Given the description of an element on the screen output the (x, y) to click on. 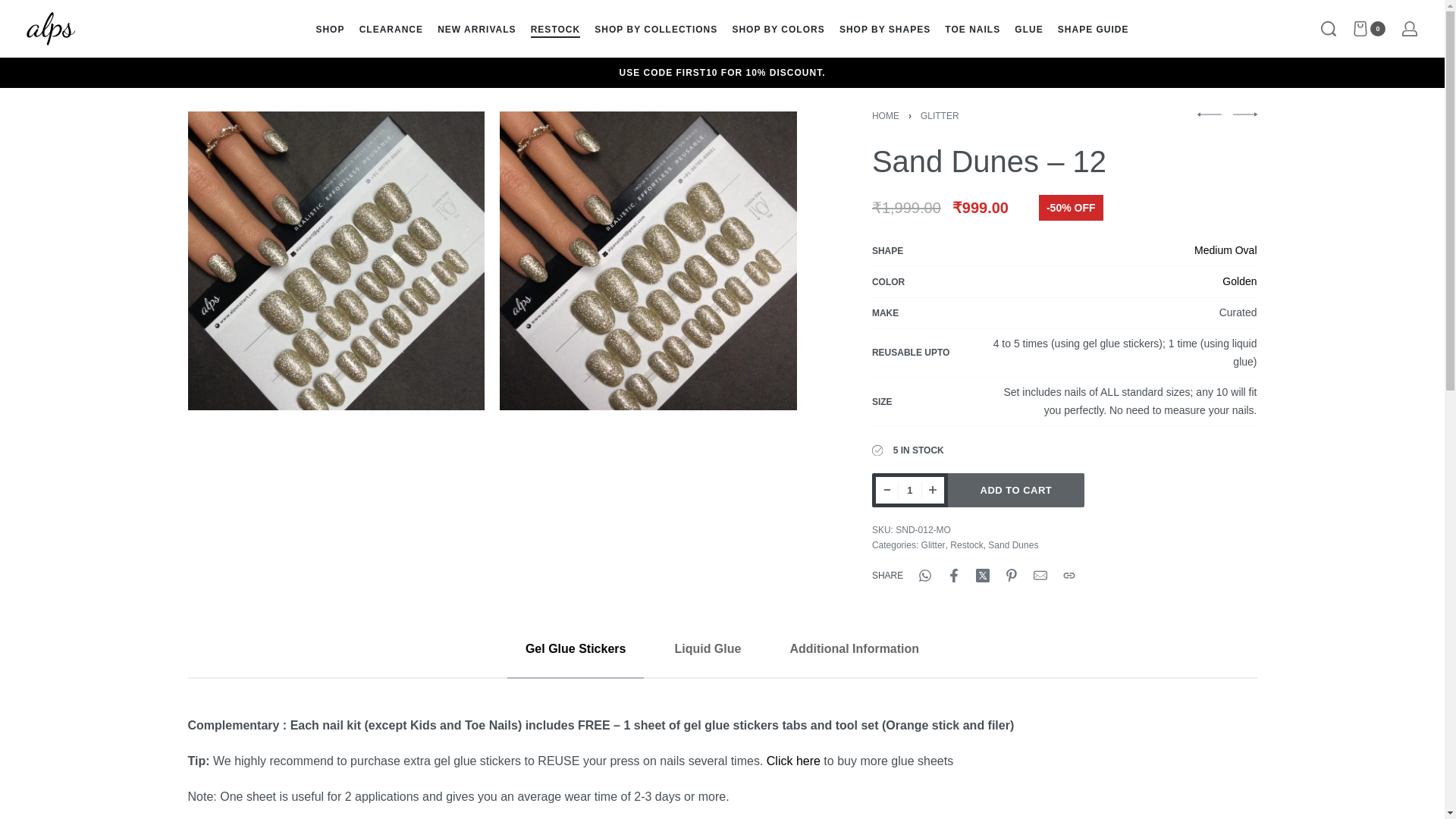
SHOP BY COLORS (778, 29)
SHOP (329, 29)
1 (909, 489)
NEW ARRIVALS (476, 29)
CLEARANCE (391, 29)
Sand Dunes - 13 (1245, 114)
RESTOCK (555, 29)
SHOP BY COLLECTIONS (655, 29)
Glaze - 04 (1208, 114)
